Given the description of an element on the screen output the (x, y) to click on. 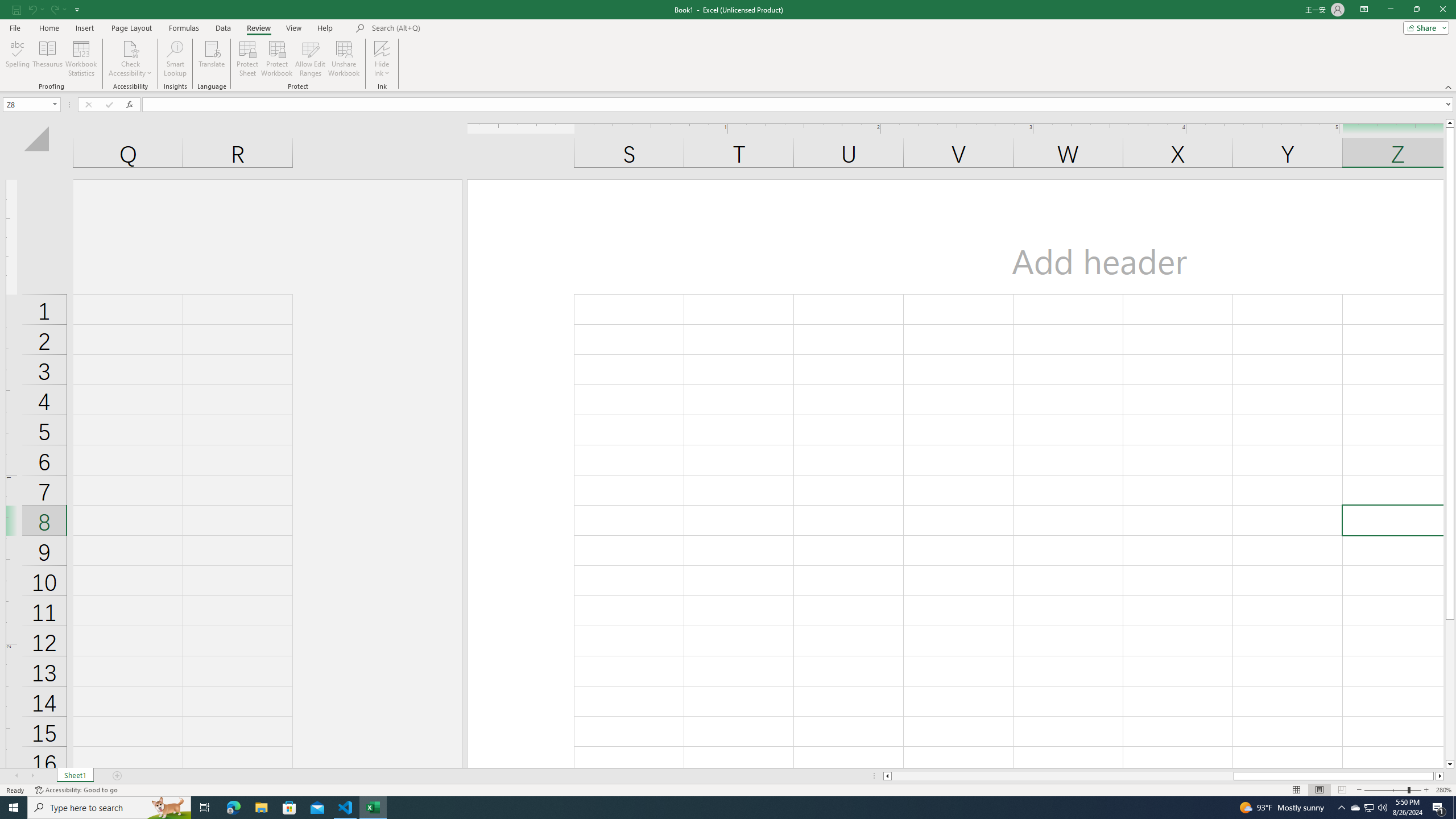
Translate (211, 58)
